Given the description of an element on the screen output the (x, y) to click on. 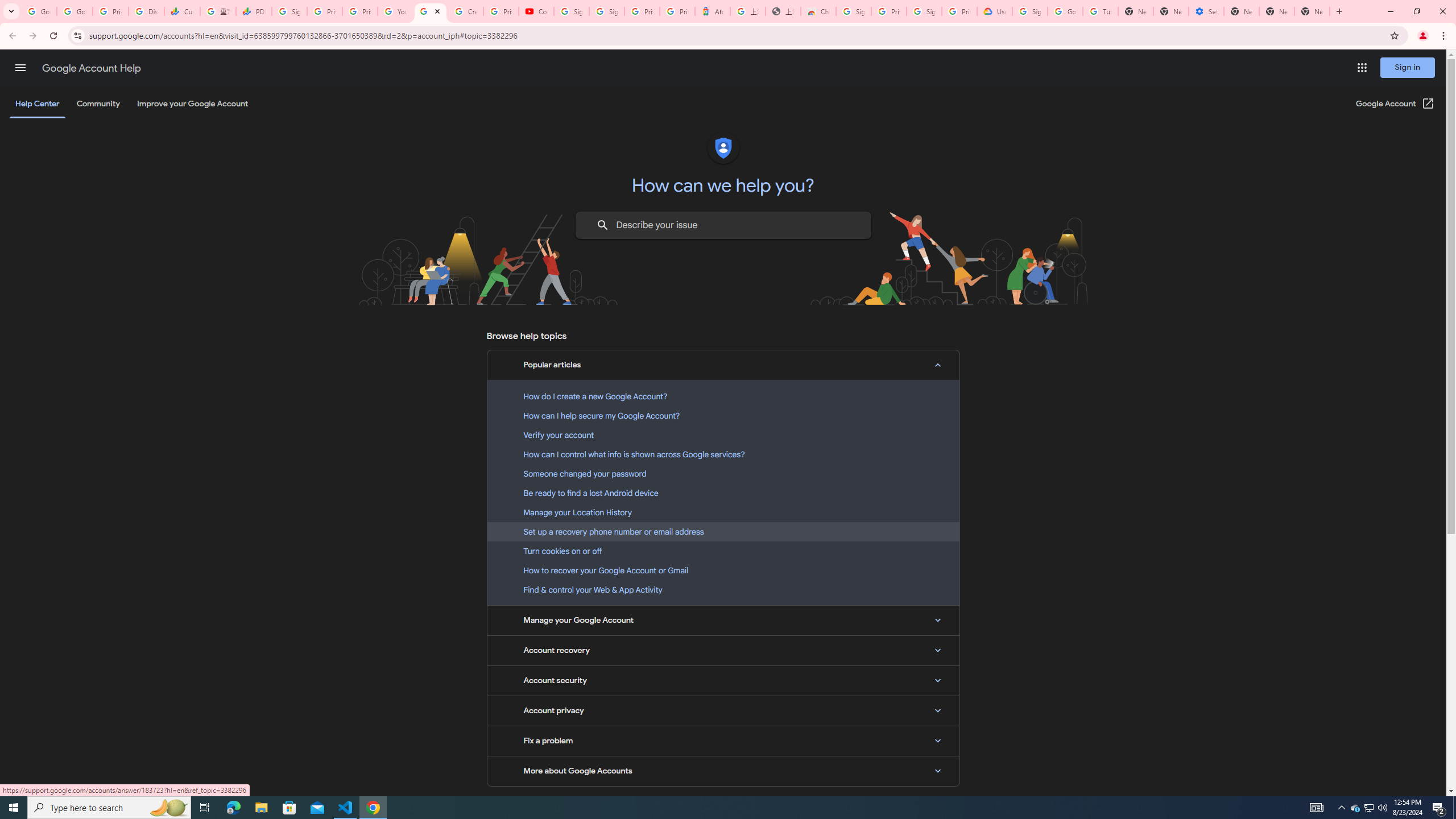
Settings - System (1205, 11)
Create your Google Account (465, 11)
Manage your Google Account (722, 620)
Chrome Web Store - Color themes by Chrome (817, 11)
How can I control what info is shown across Google services? (722, 454)
Account security (722, 680)
Google Account Help (429, 11)
